Given the description of an element on the screen output the (x, y) to click on. 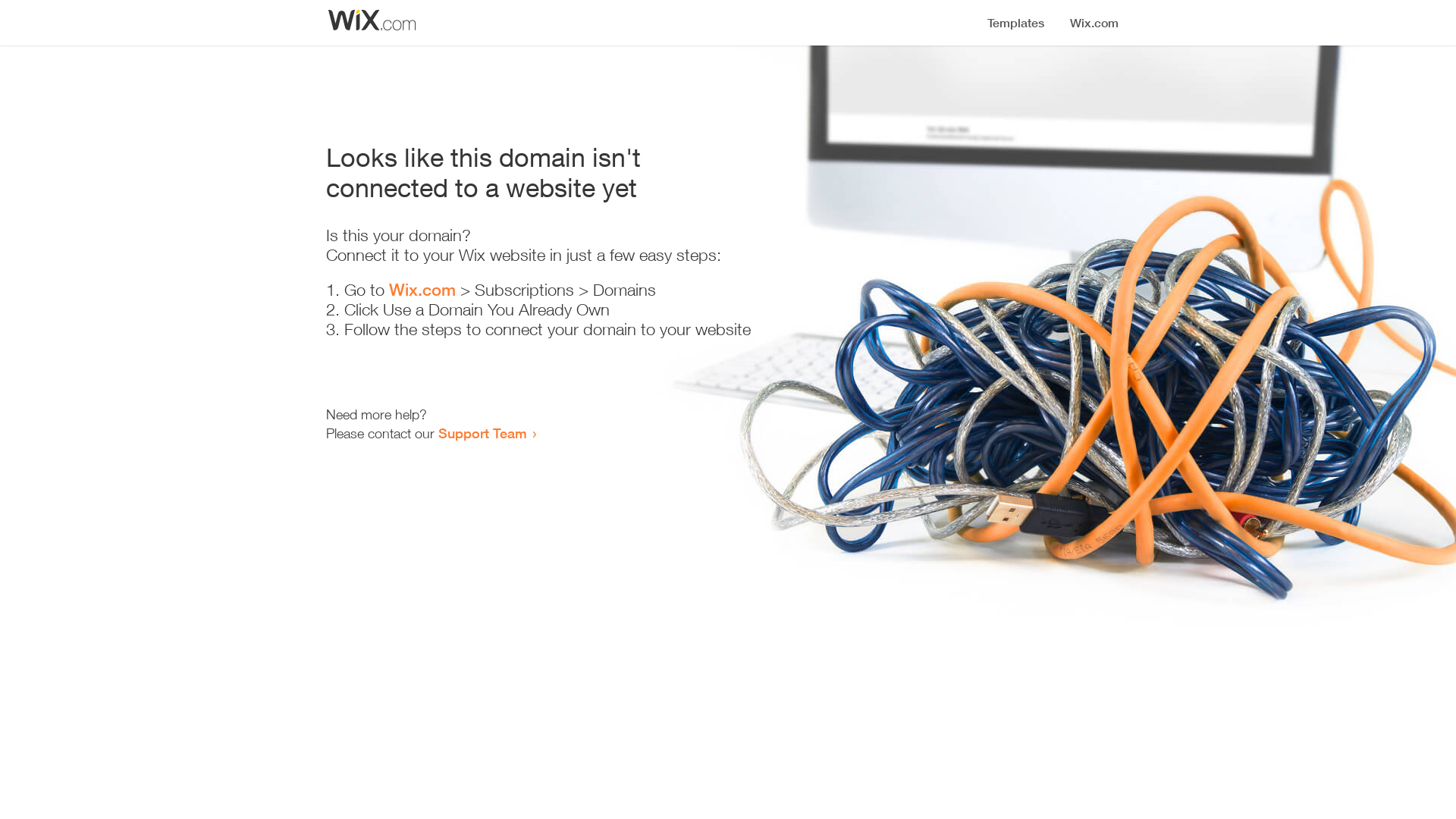
Wix.com Element type: text (422, 289)
Support Team Element type: text (482, 432)
